Given the description of an element on the screen output the (x, y) to click on. 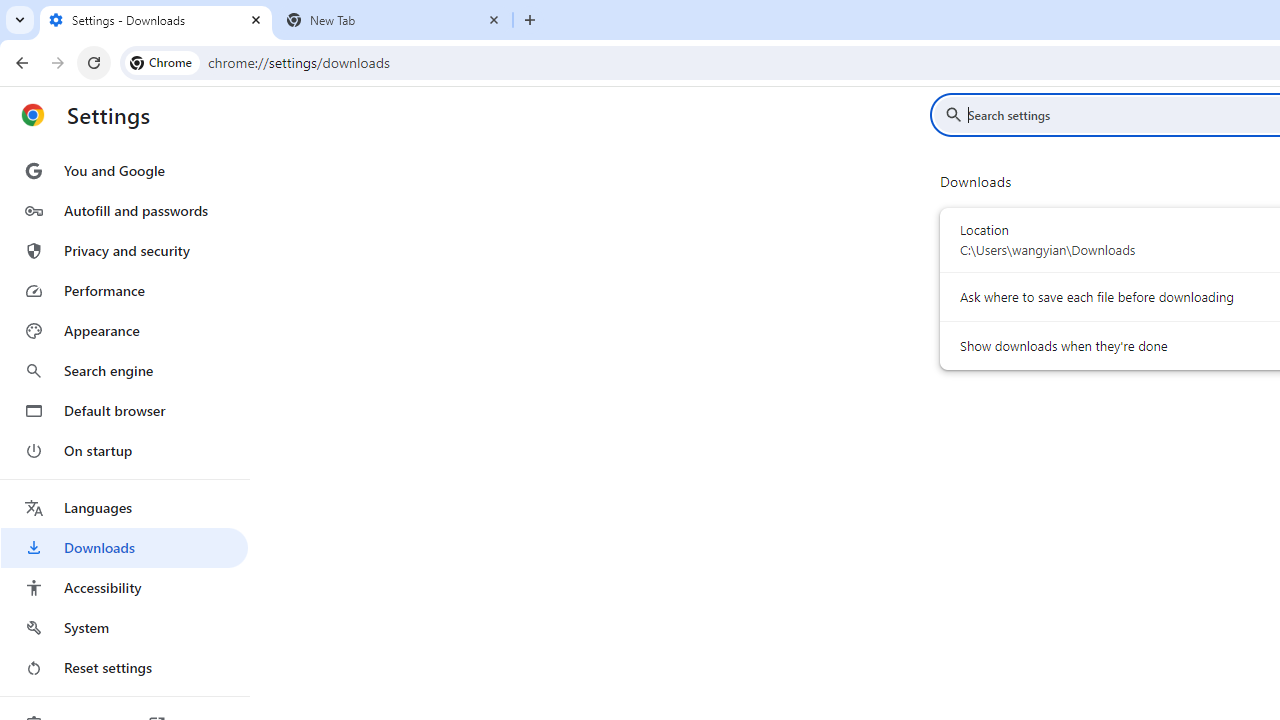
Default browser (124, 410)
Appearance (124, 331)
Performance (124, 290)
Reset settings (124, 668)
Settings - Downloads (156, 20)
Privacy and security (124, 250)
On startup (124, 450)
New Tab (394, 20)
Downloads (124, 547)
